Given the description of an element on the screen output the (x, y) to click on. 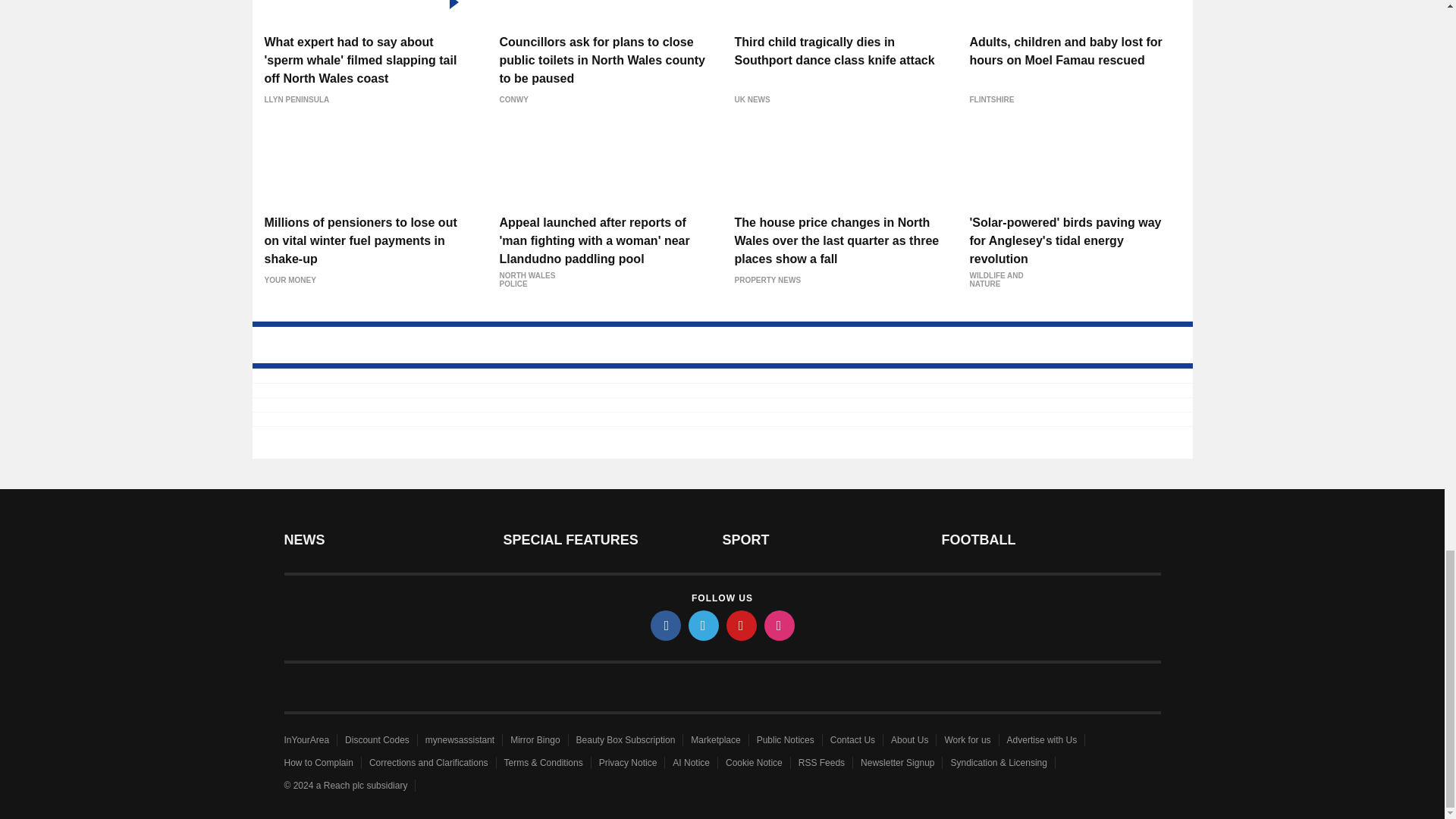
twitter (703, 625)
instagram (779, 625)
pinterest (741, 625)
facebook (665, 625)
